Given the description of an element on the screen output the (x, y) to click on. 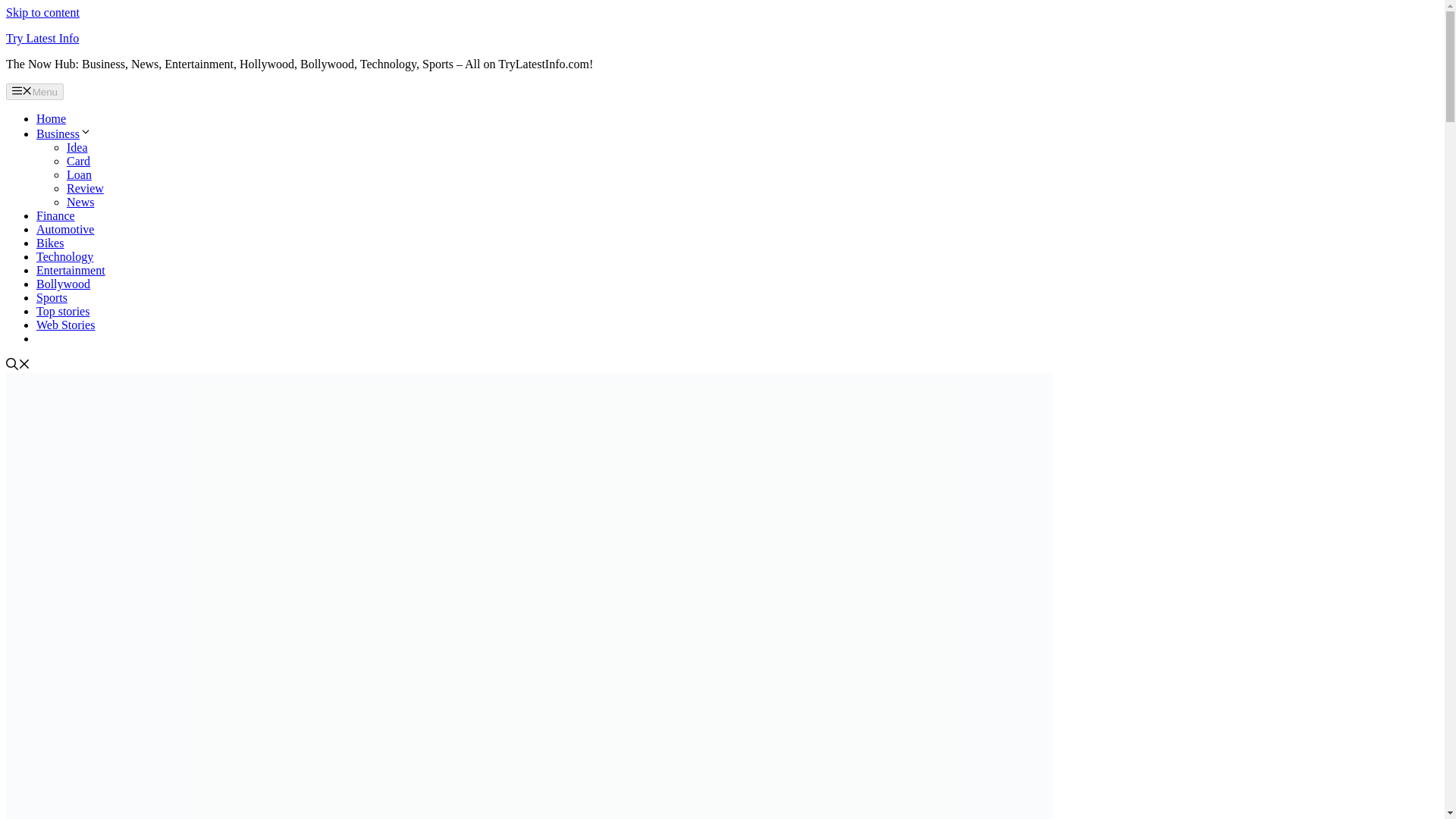
News (80, 201)
Bikes (50, 242)
Home (50, 118)
Entertainment (70, 269)
Business (63, 133)
Bollywood (63, 283)
Skip to content (42, 11)
Try Latest Info (41, 38)
Menu (34, 91)
Sports (51, 297)
Review (84, 187)
Finance (55, 215)
Top stories (62, 310)
Loan (78, 174)
Idea (76, 146)
